Given the description of an element on the screen output the (x, y) to click on. 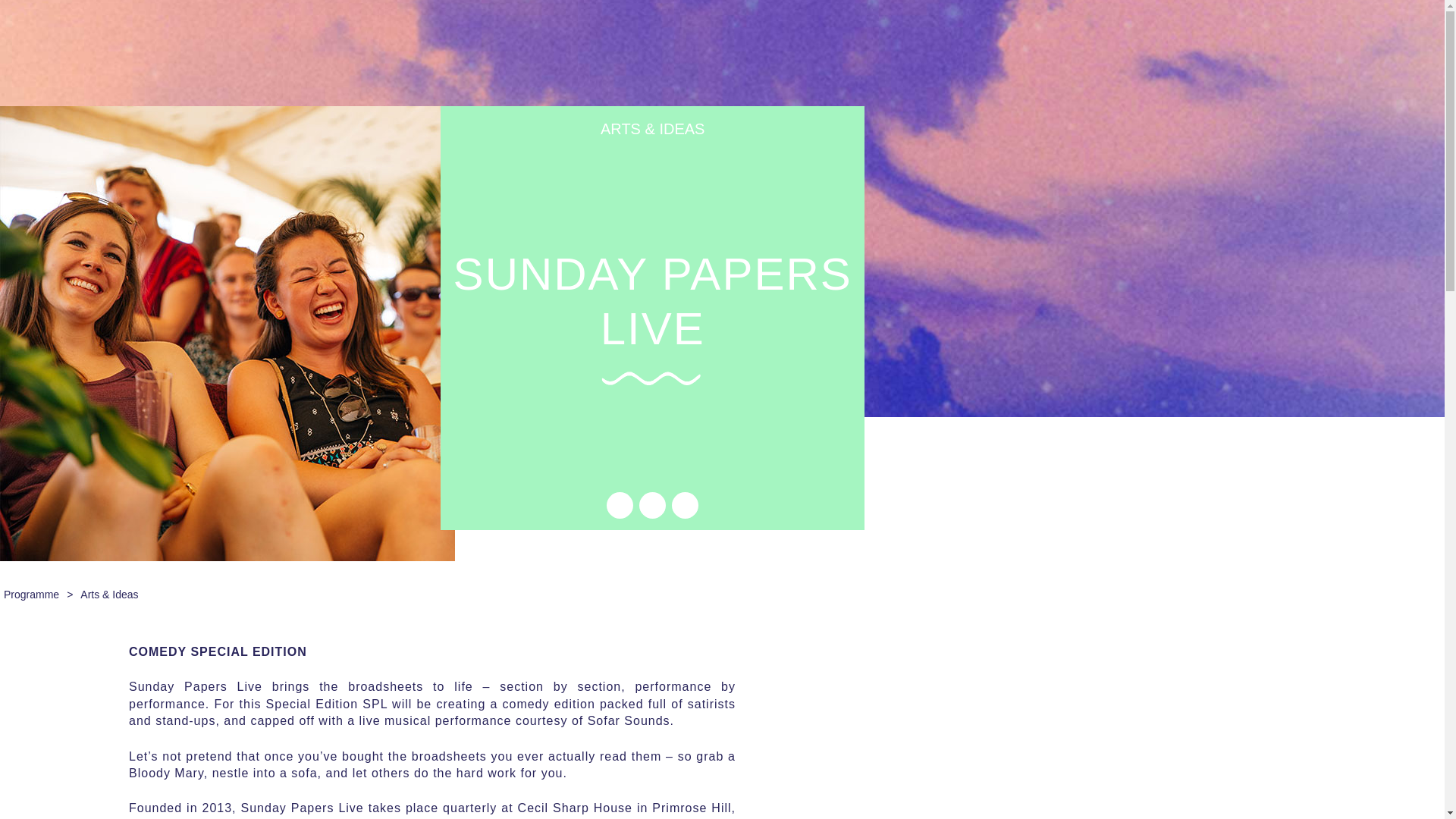
Toggle navigation MENU (774, 36)
Programme (31, 594)
Back to programme (31, 594)
